Given the description of an element on the screen output the (x, y) to click on. 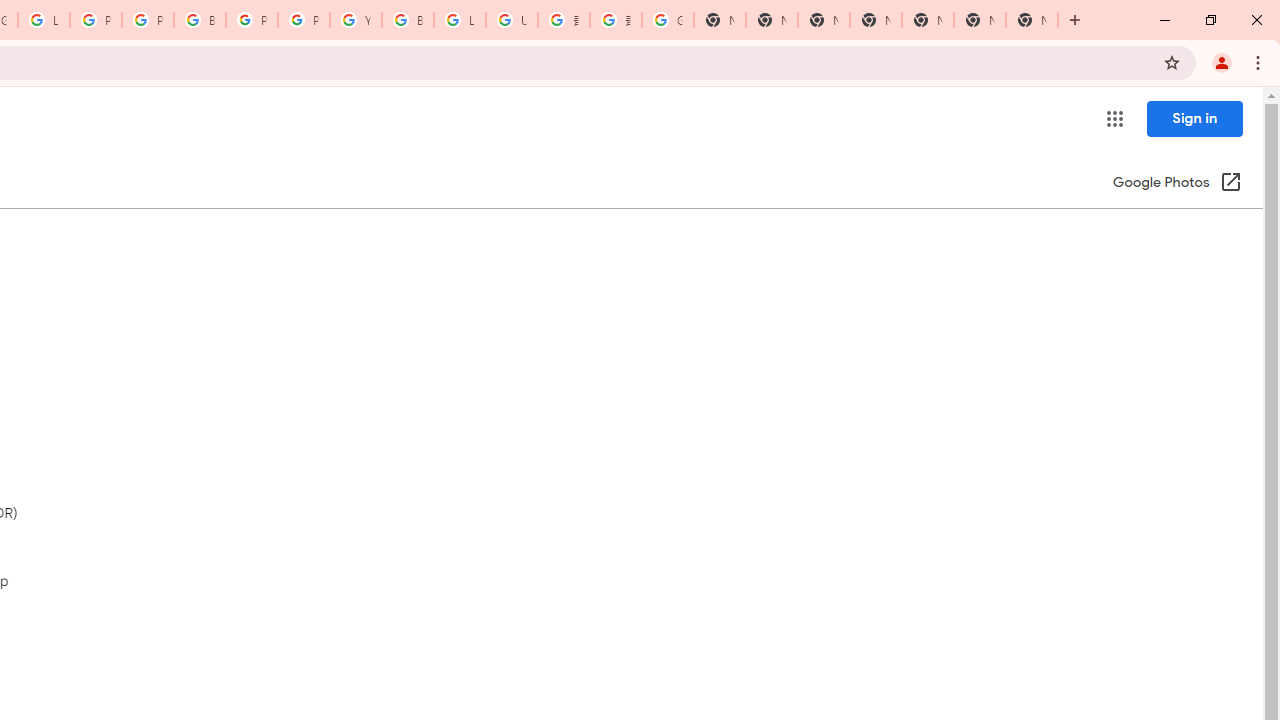
Google Photos (Open in a new window) (1177, 183)
New Tab (875, 20)
Privacy Help Center - Policies Help (147, 20)
Google Images (667, 20)
Privacy Help Center - Policies Help (95, 20)
